Given the description of an element on the screen output the (x, y) to click on. 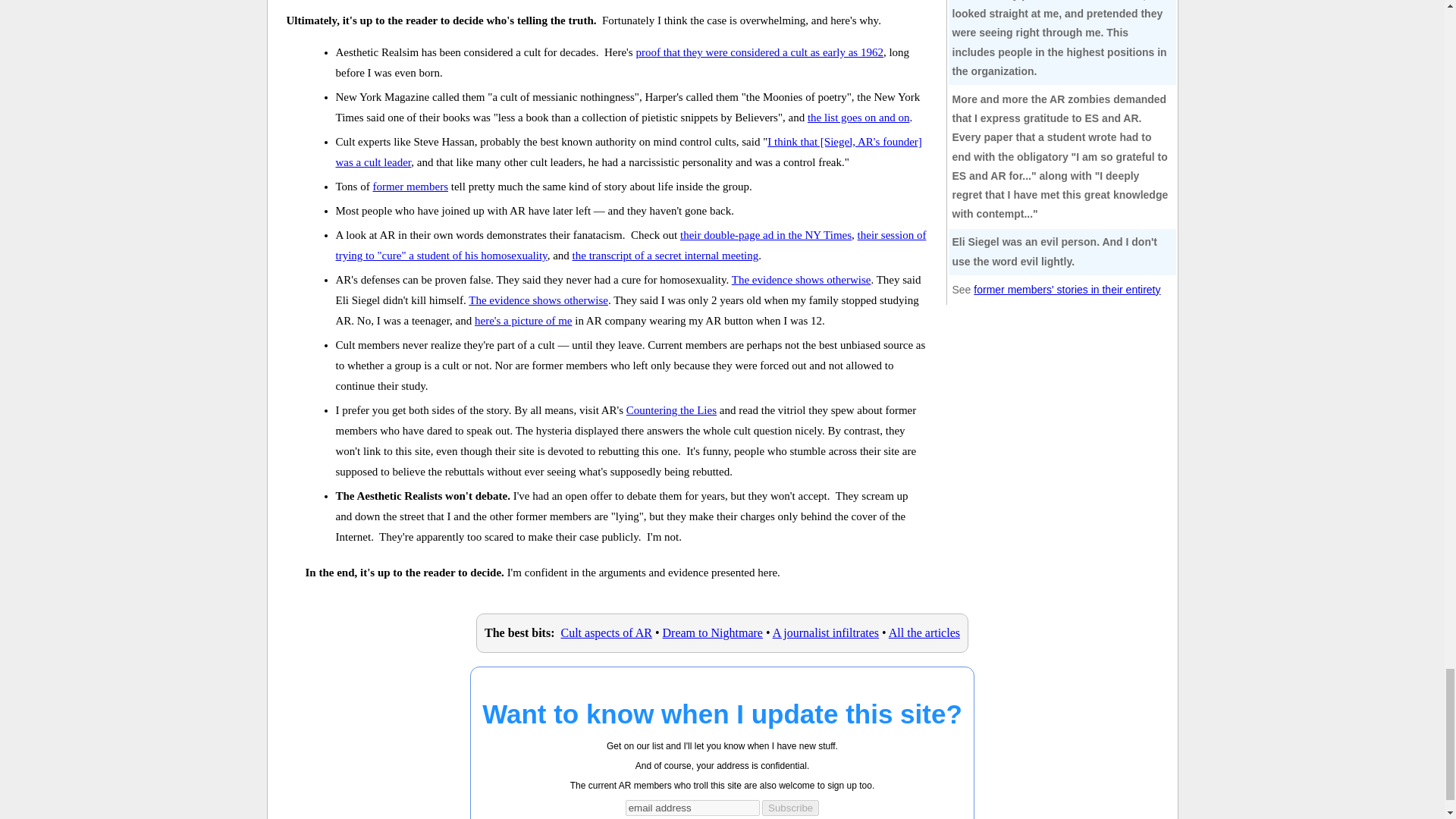
Subscribe (789, 807)
email address (693, 807)
